Given the description of an element on the screen output the (x, y) to click on. 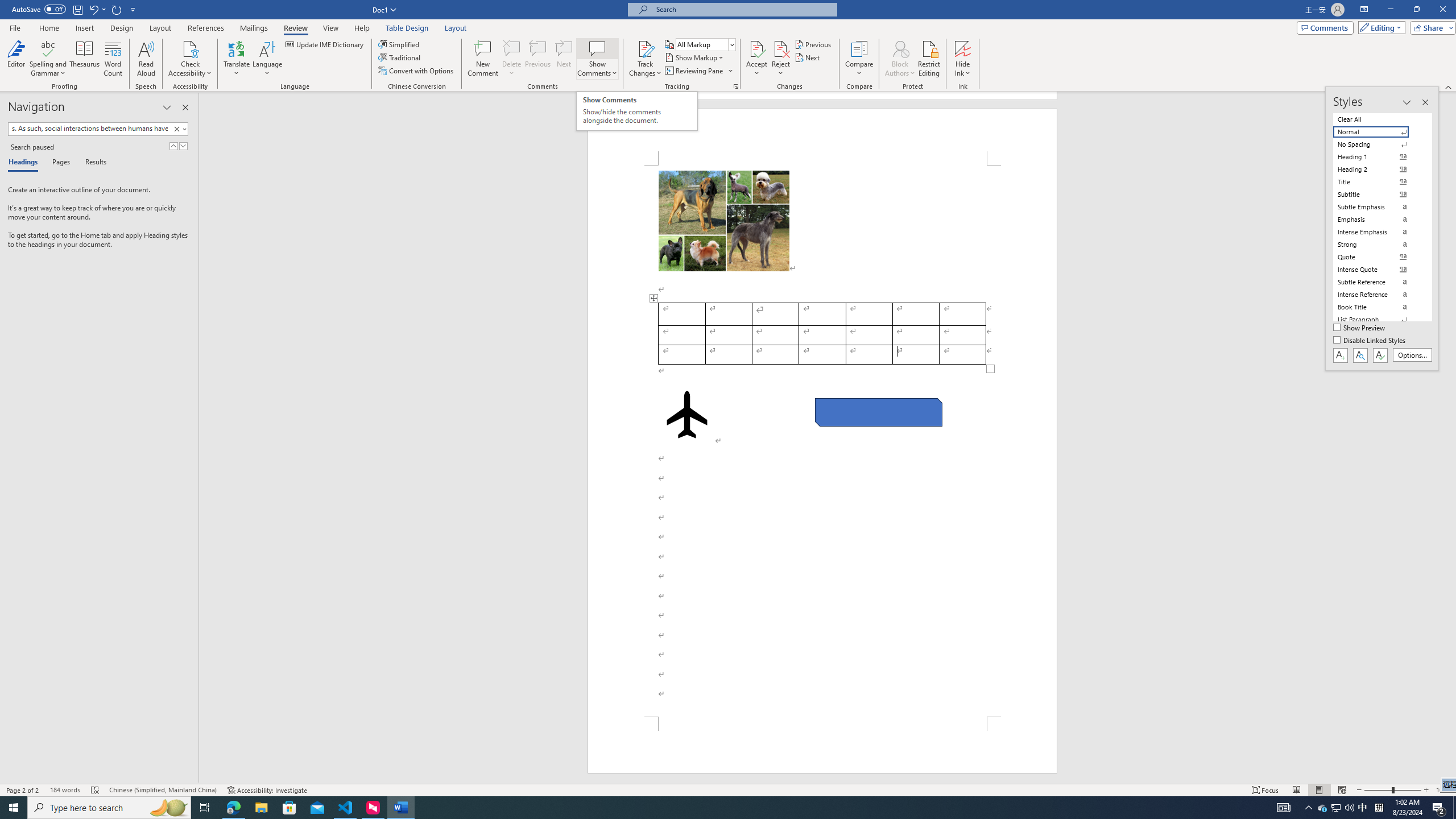
Delete (511, 48)
Intense Reference (1377, 294)
Restrict Editing (929, 58)
Thesaurus... (84, 58)
Word Count (113, 58)
Open (731, 44)
Convert with Options... (417, 69)
Class: MsoCommandBar (728, 45)
Results (91, 162)
